Given the description of an element on the screen output the (x, y) to click on. 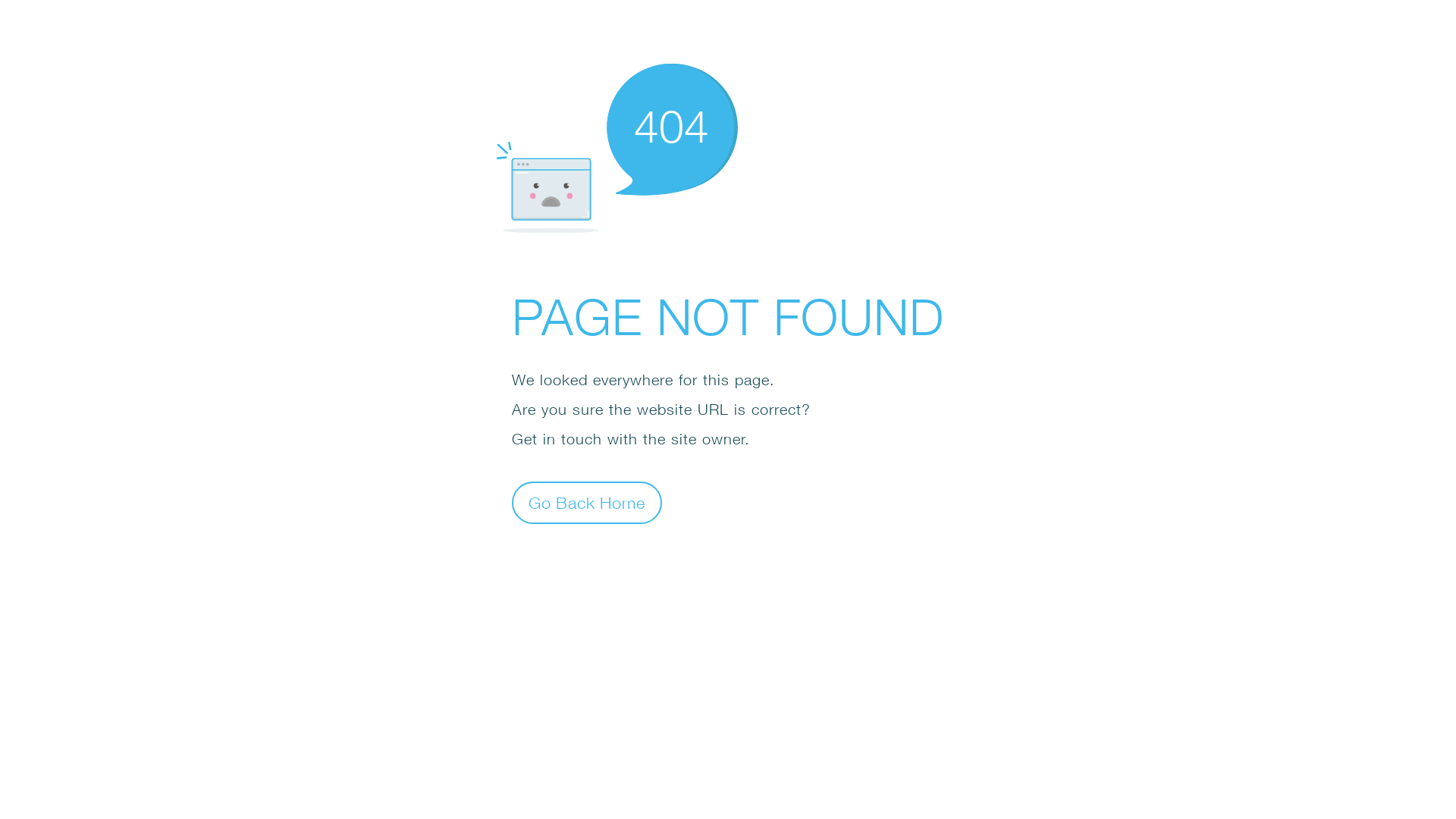
Go Back Home Element type: text (586, 502)
